Given the description of an element on the screen output the (x, y) to click on. 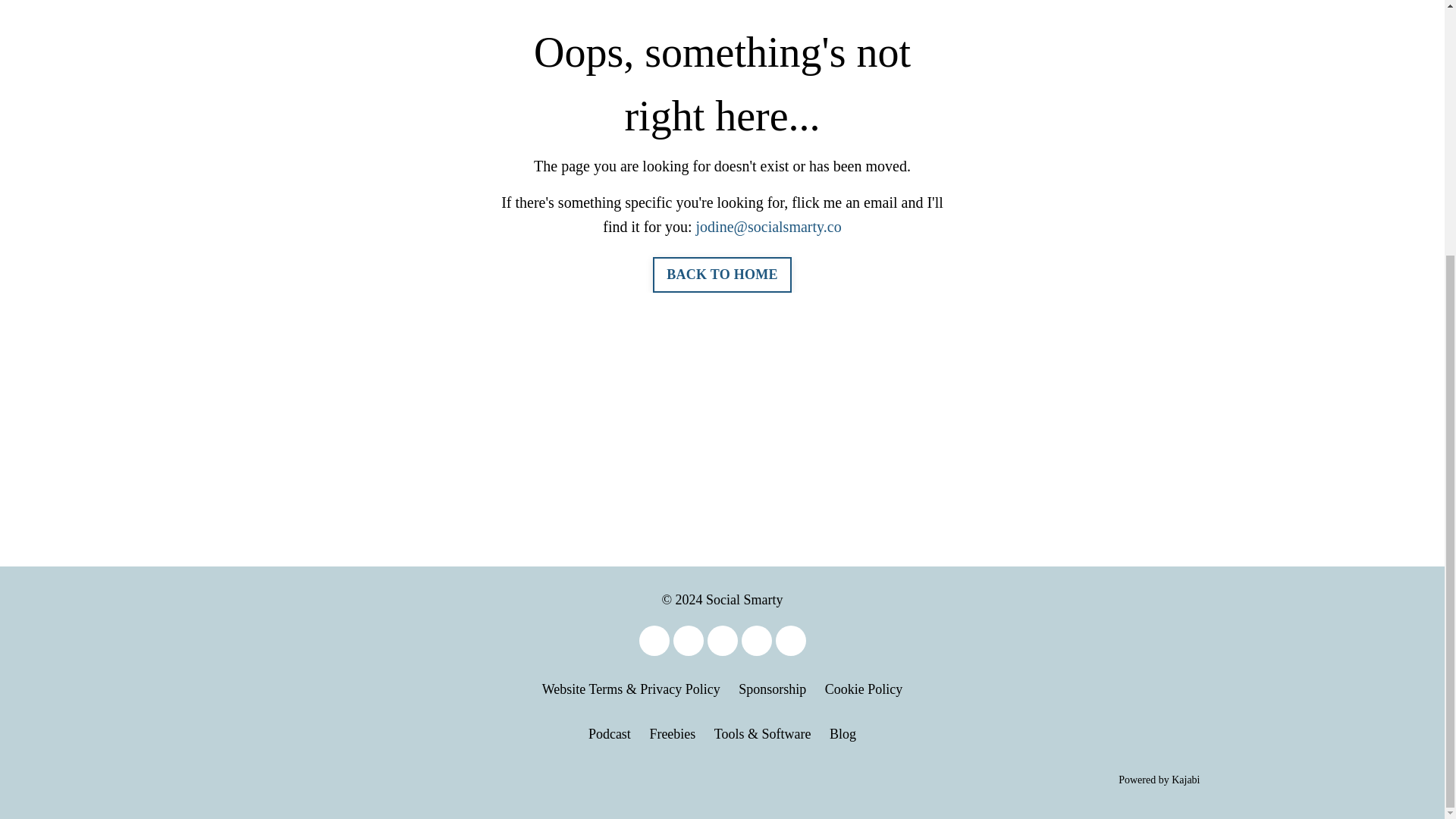
Podcast (609, 734)
Sponsorship (772, 688)
Cookie Policy (863, 688)
BACK TO HOME (721, 274)
Powered by Kajabi (1158, 779)
Freebies (672, 734)
Blog (842, 734)
